Given the description of an element on the screen output the (x, y) to click on. 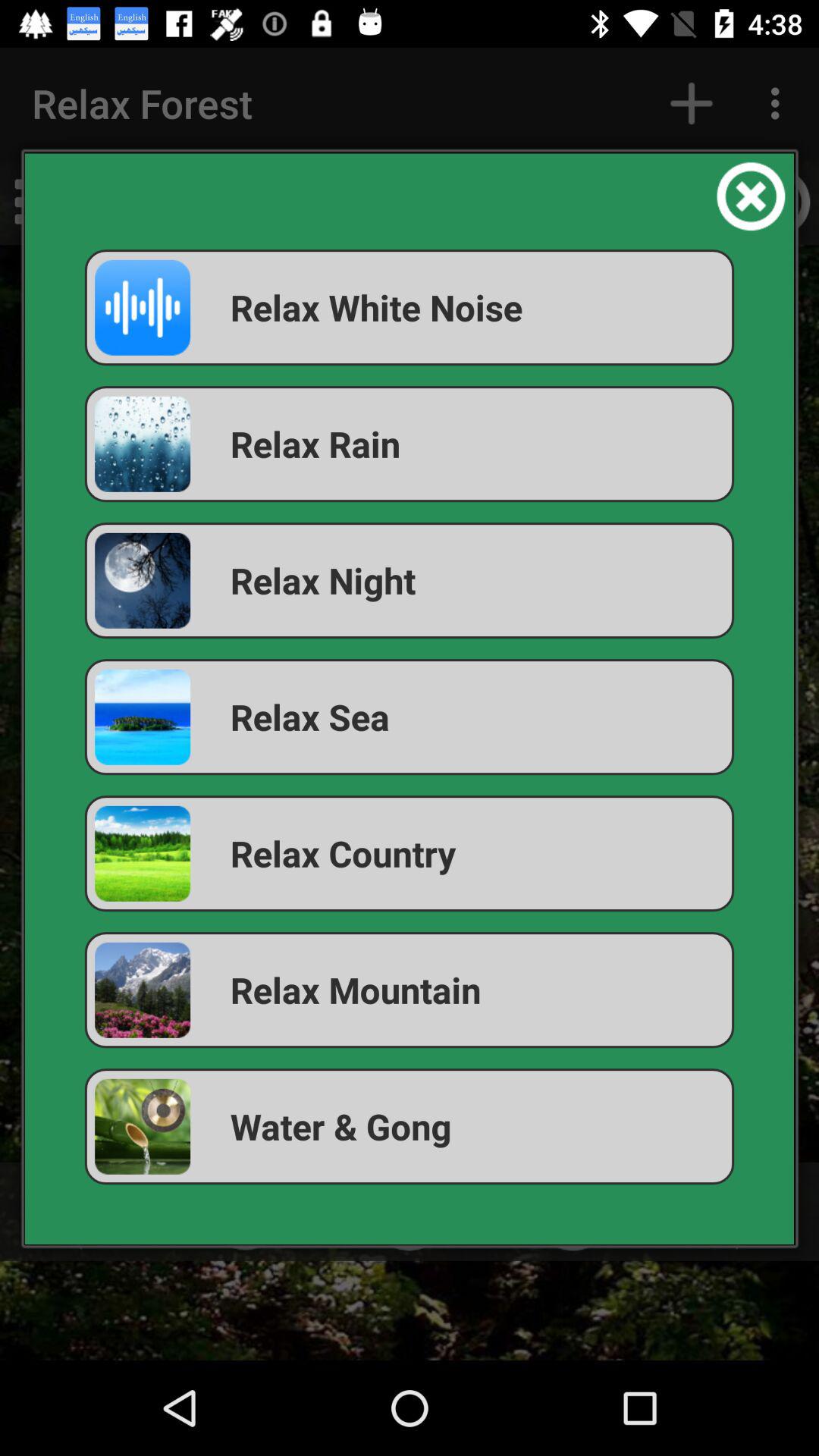
click the icon below the relax sea app (409, 853)
